Given the description of an element on the screen output the (x, y) to click on. 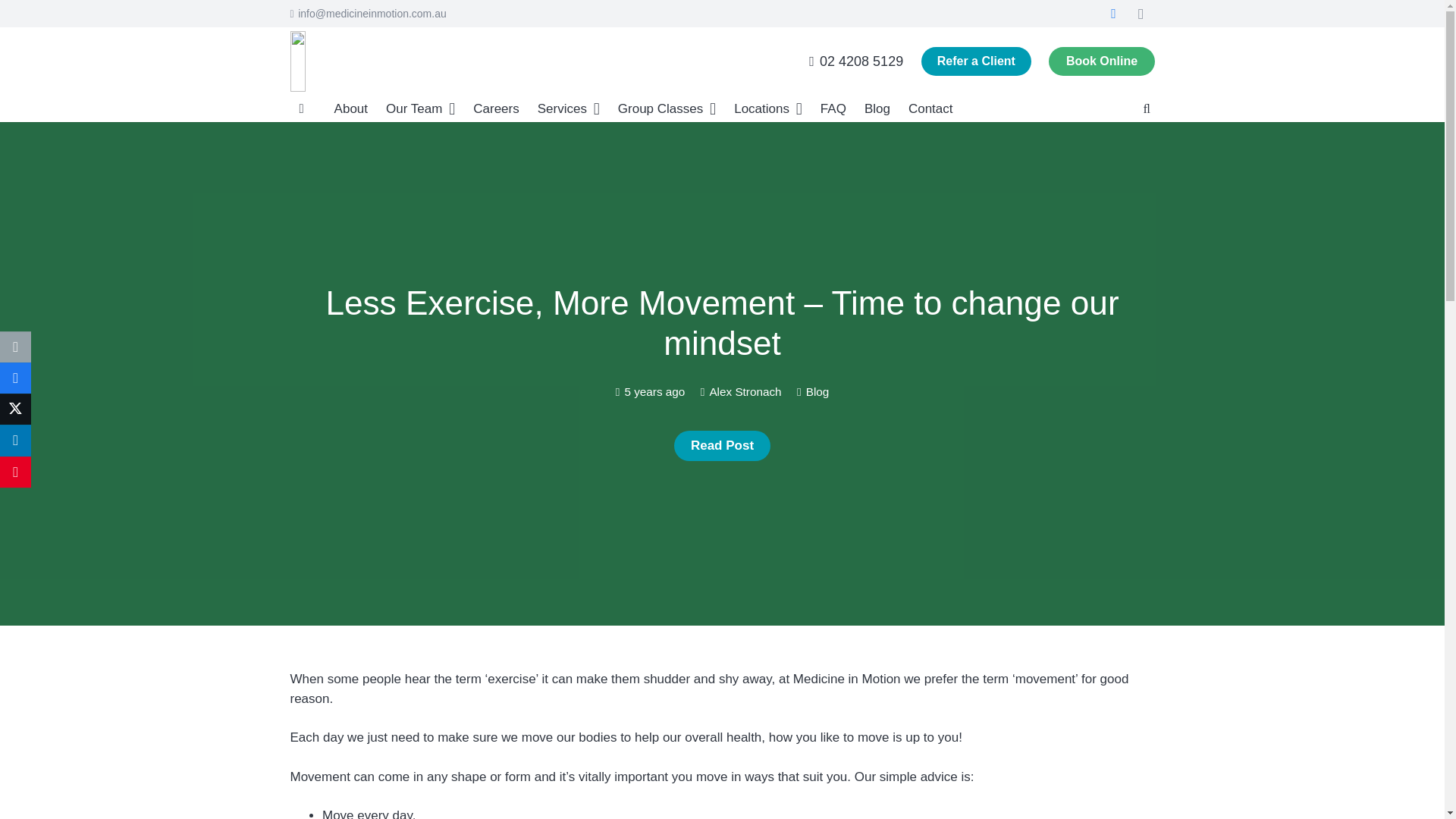
Tweet this (15, 409)
Book Online (492, 681)
02 4208 5129 (855, 60)
About (350, 108)
Group Classes (666, 108)
Pin this (15, 471)
Refer a Client (975, 61)
Services (568, 108)
Share this (15, 377)
Instagram (1140, 13)
